Given the description of an element on the screen output the (x, y) to click on. 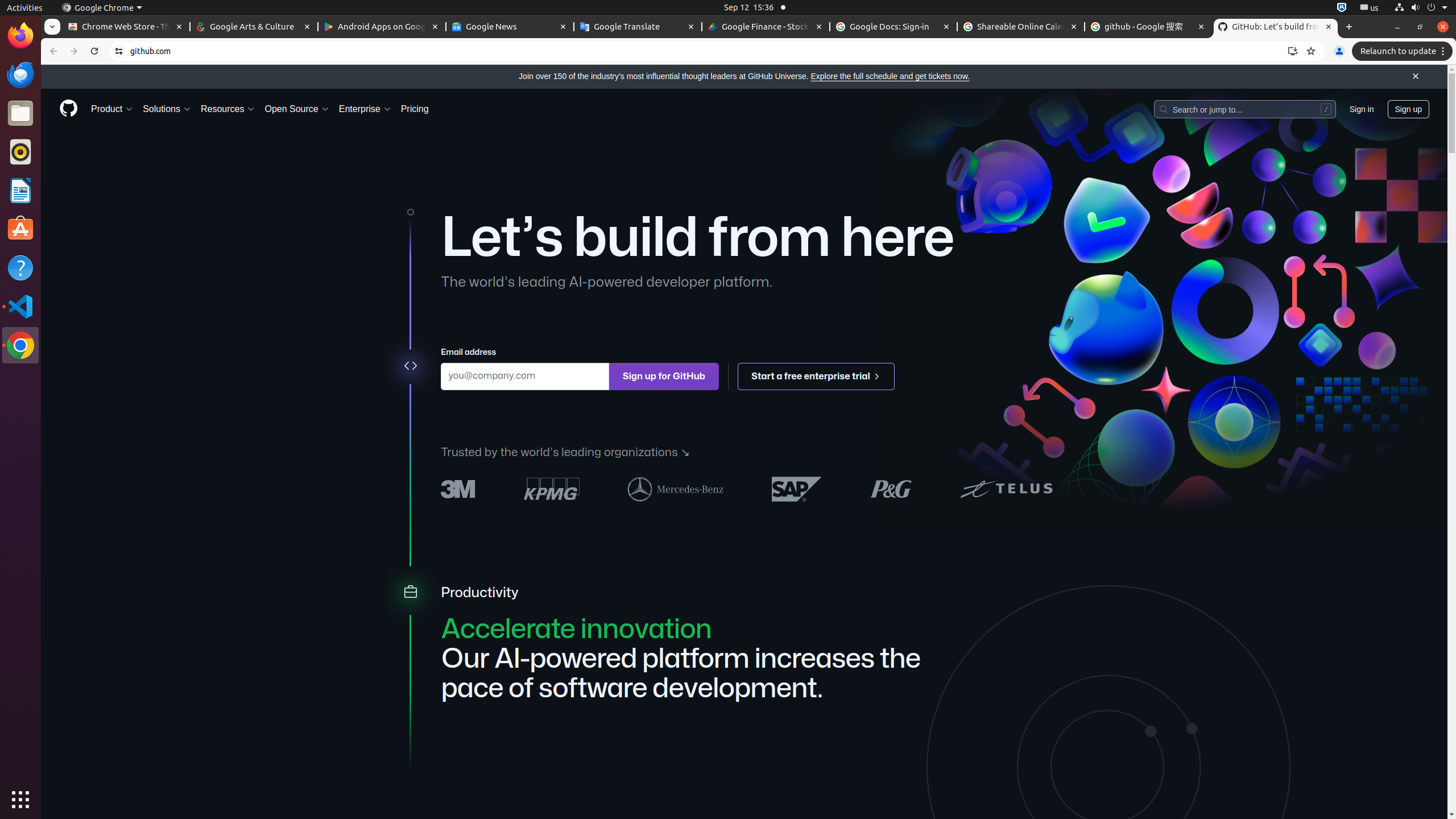
:1.72/StatusNotifierItem Element type: menu (1341, 7)
Google Chrome Element type: push-button (20, 344)
Pricing Element type: link (414, 108)
Open Source Element type: push-button (296, 108)
Forward Element type: push-button (73, 50)
